Given the description of an element on the screen output the (x, y) to click on. 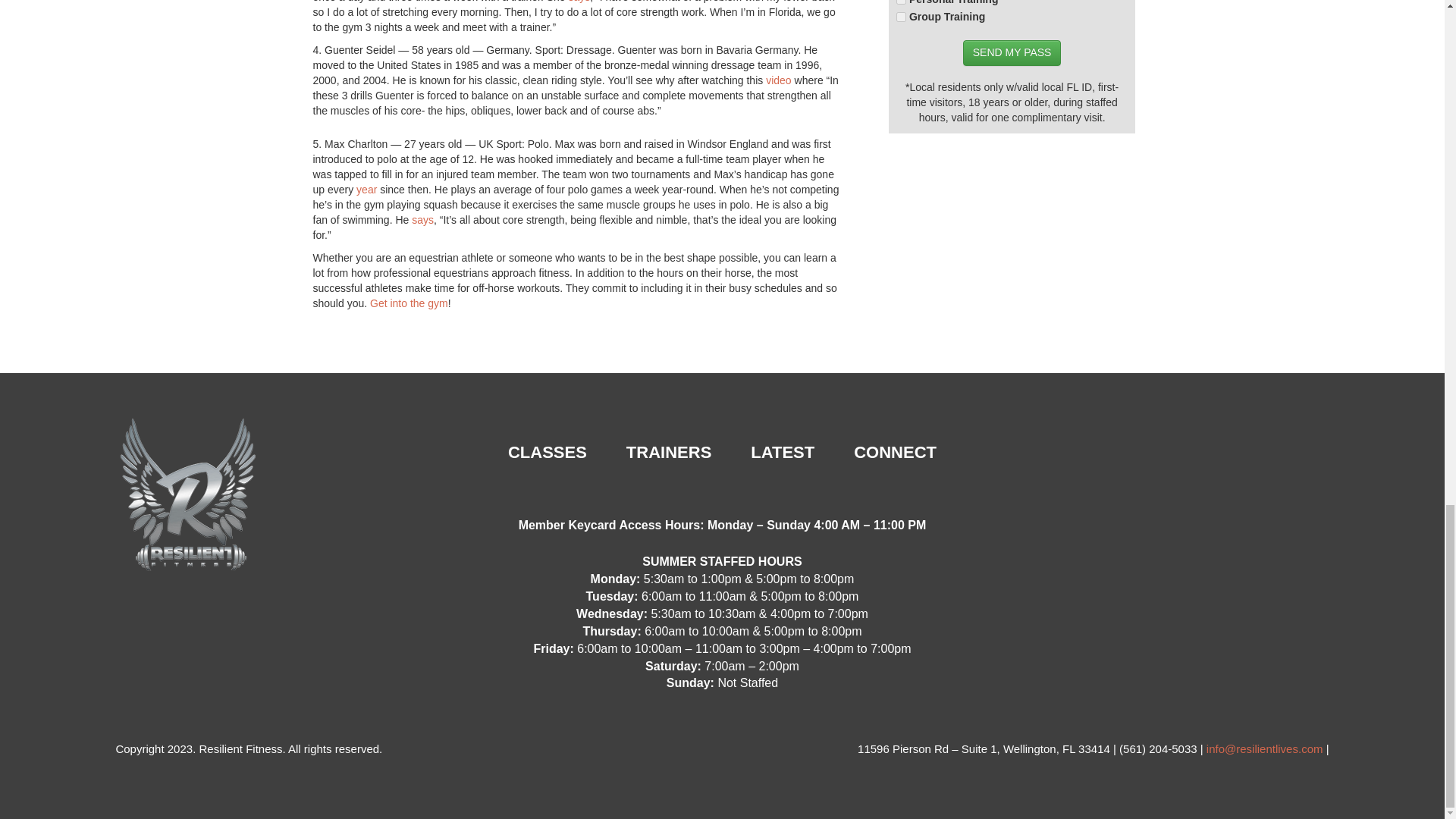
Personal Training (900, 2)
Group Training (900, 17)
logo (190, 496)
